Given the description of an element on the screen output the (x, y) to click on. 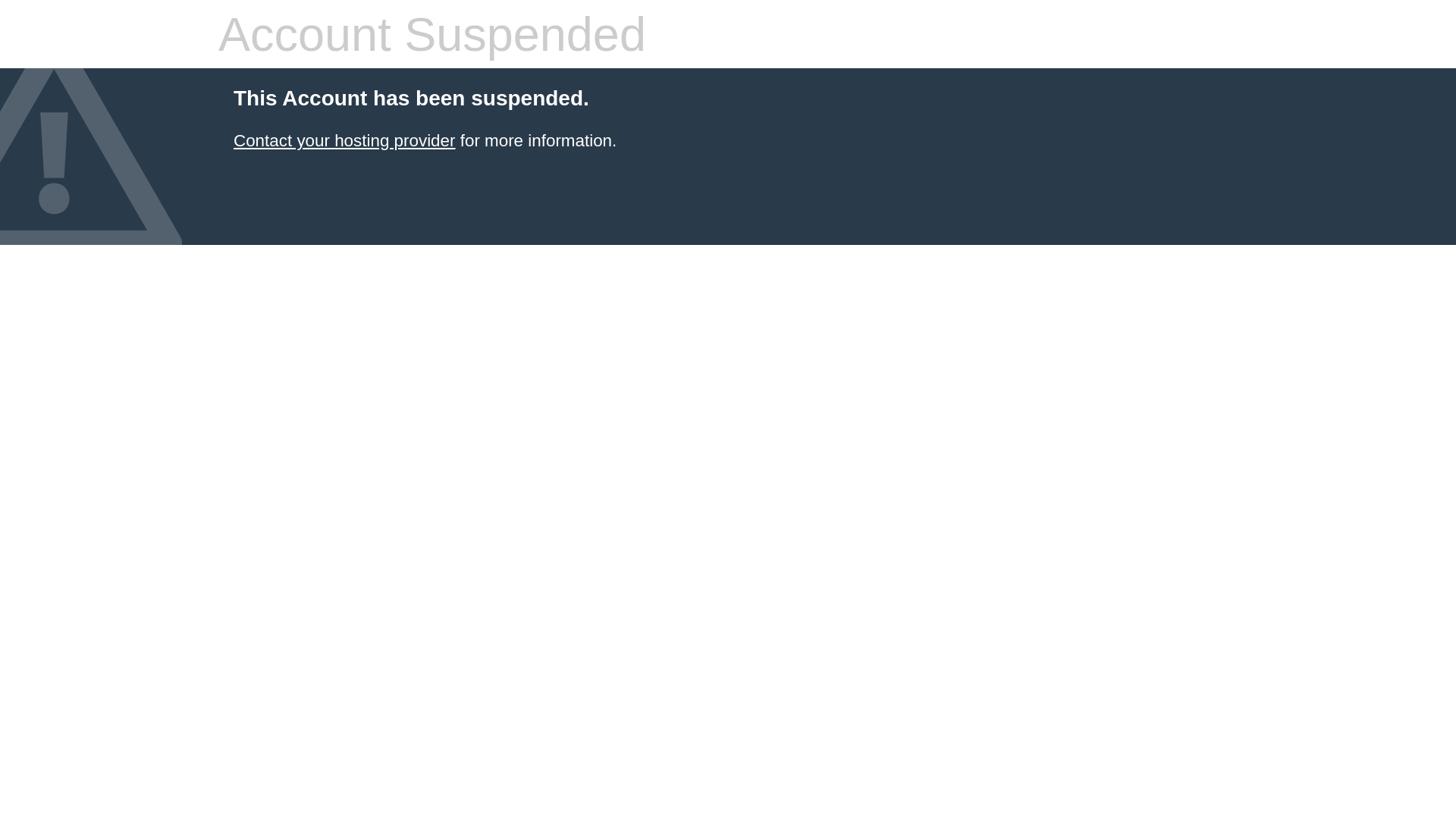
Contact your hosting provider Element type: text (344, 140)
